Given the description of an element on the screen output the (x, y) to click on. 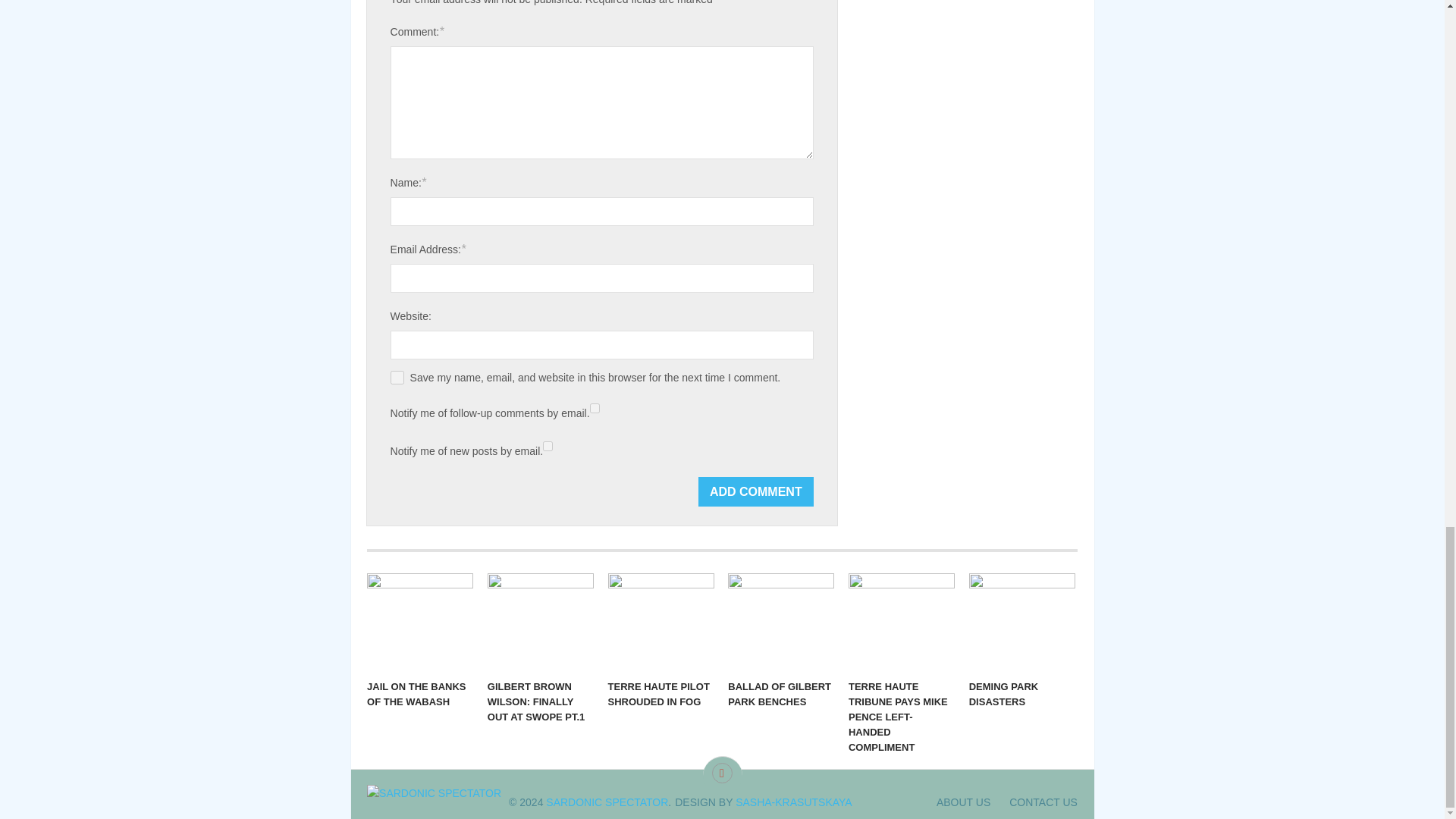
subscribe (594, 408)
JAIL ON THE BANKS OF THE WABASH (419, 622)
subscribe (548, 446)
yes (397, 377)
Add Comment (755, 491)
Add Comment (755, 491)
